Given the description of an element on the screen output the (x, y) to click on. 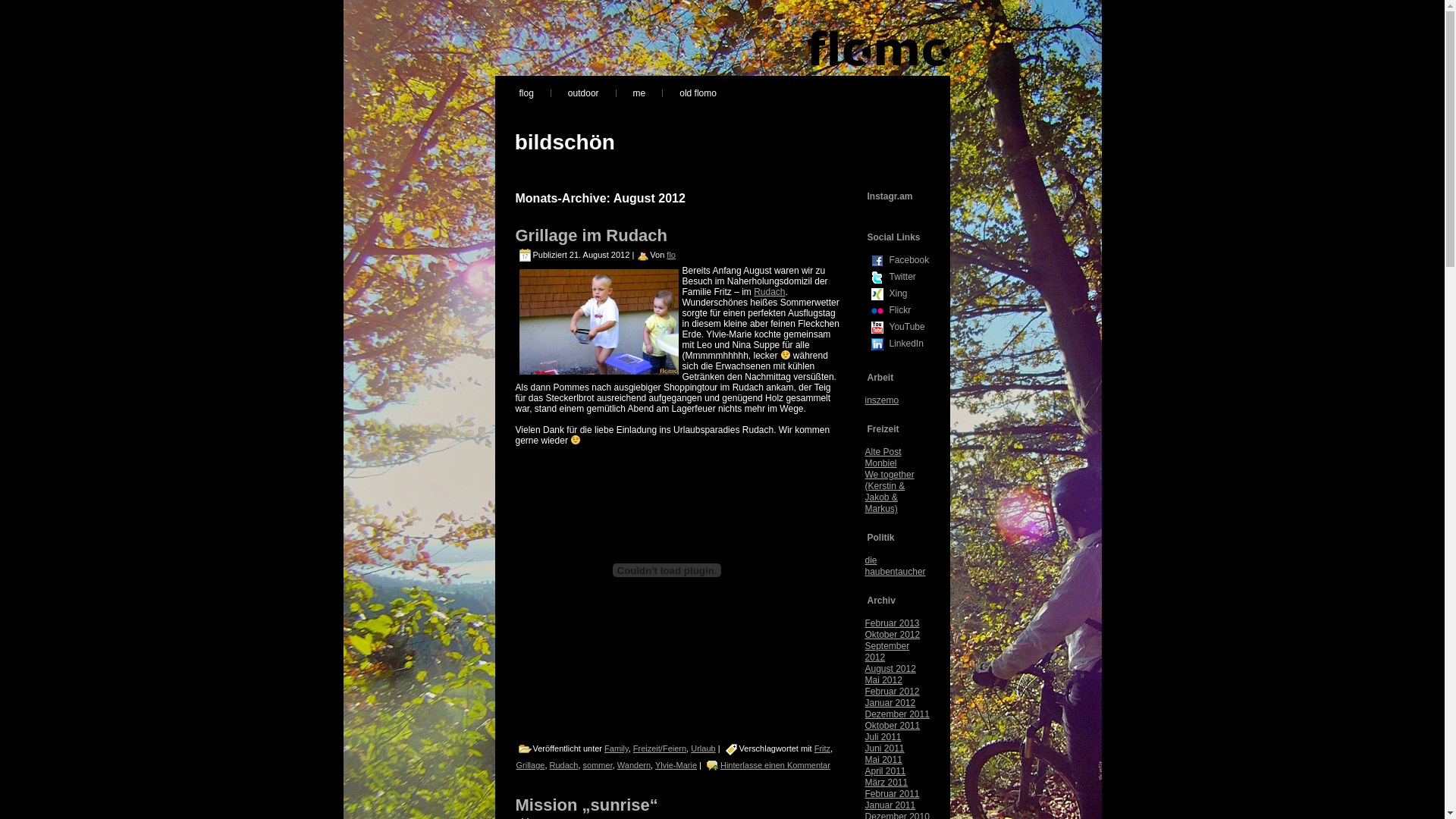
Oktober 2012 Element type: text (891, 634)
sommer Element type: text (597, 764)
Hinterlasse einen Kommentar Element type: text (775, 764)
We together (Kerstin & Jakob & Markus) Element type: text (888, 491)
Mai 2011 Element type: text (882, 759)
Januar 2011 Element type: text (889, 805)
Fritz Element type: text (822, 748)
Rudach Element type: text (768, 291)
Dezember 2011 Element type: text (896, 714)
YouTube Element type: hover (876, 327)
Flickr Element type: text (908, 309)
Ylvie-Marie Element type: text (675, 764)
Alte Post Monbiel Element type: text (882, 457)
LinkedIn Element type: text (908, 343)
Februar 2012 Element type: text (891, 691)
inszemo Element type: text (881, 400)
Family Element type: text (616, 748)
Besuch im Rudach Element type: hover (597, 321)
outdoor Element type: text (583, 93)
Rudach Element type: text (563, 764)
Juni 2011 Element type: text (883, 748)
Xing Element type: hover (876, 294)
Flickr Element type: hover (876, 310)
August 2012 Element type: text (889, 668)
Facebook Element type: hover (876, 260)
flog Element type: text (525, 93)
April 2011 Element type: text (884, 770)
Februar 2013 Element type: text (891, 623)
Grillage im Rudach Element type: text (591, 234)
flo Element type: text (670, 254)
Twitter Element type: text (908, 276)
Juli 2011 Element type: text (882, 736)
Facebook Element type: text (908, 259)
YouTube Element type: text (908, 326)
LinkedIn Element type: hover (876, 344)
September 2012 Element type: text (886, 651)
Twitter Element type: hover (876, 277)
Urlaub Element type: text (702, 748)
Freizeit/Feiern Element type: text (659, 748)
Xing Element type: text (908, 293)
Januar 2012 Element type: text (889, 702)
old flomo Element type: text (697, 93)
Grillage Element type: text (529, 764)
Mai 2012 Element type: text (882, 679)
die haubentaucher Element type: text (894, 566)
Februar 2011 Element type: text (891, 793)
Wandern Element type: text (633, 764)
me Element type: text (639, 93)
Oktober 2011 Element type: text (891, 725)
